Given the description of an element on the screen output the (x, y) to click on. 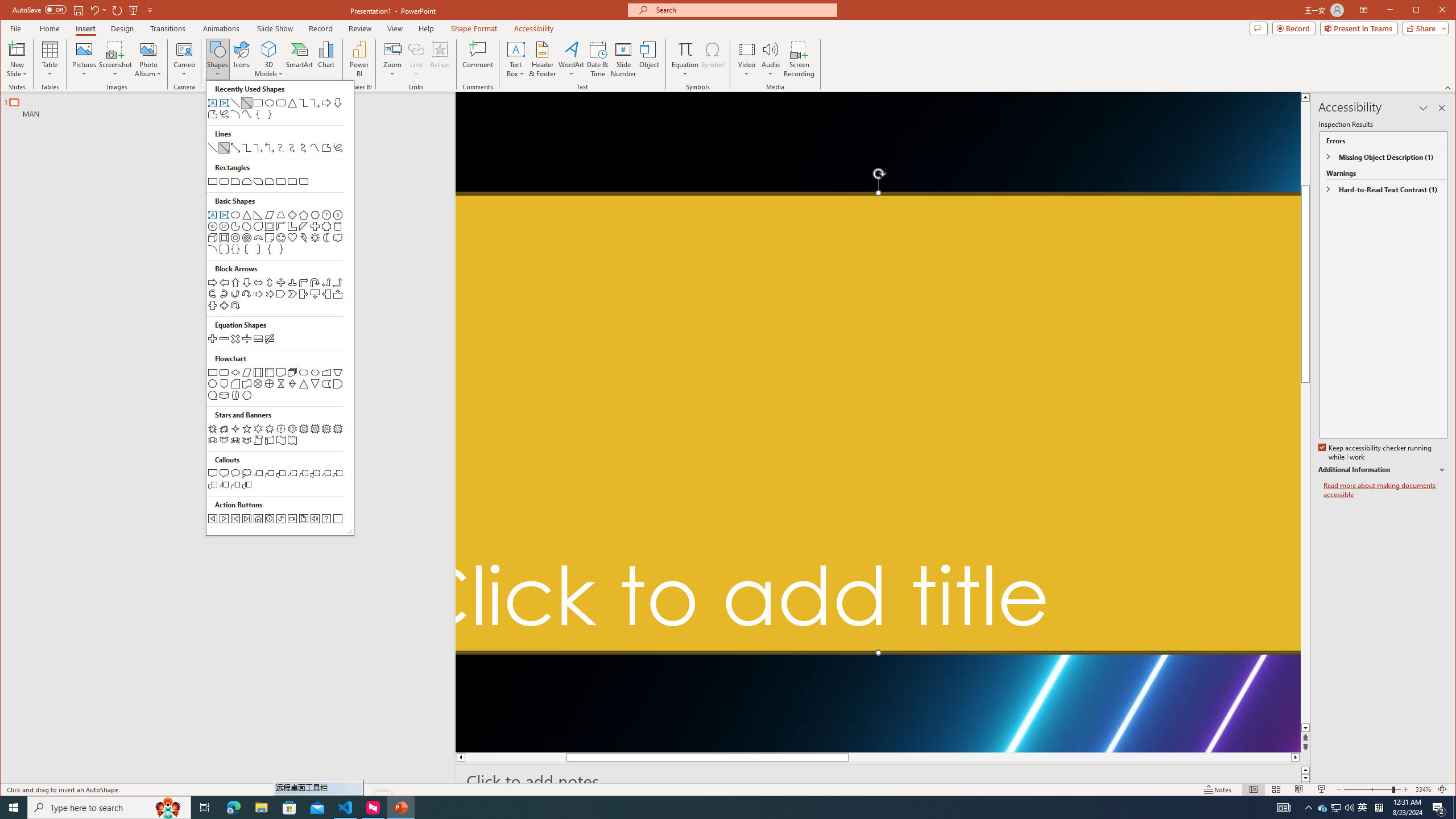
Header & Footer... (542, 59)
Page up (1305, 177)
Audio (770, 59)
Text Box (515, 59)
Action Center, 2 new notifications (1322, 807)
Neon laser lights aligned to form a triangle (1439, 807)
Page down (877, 421)
Shape Format (1305, 603)
